Given the description of an element on the screen output the (x, y) to click on. 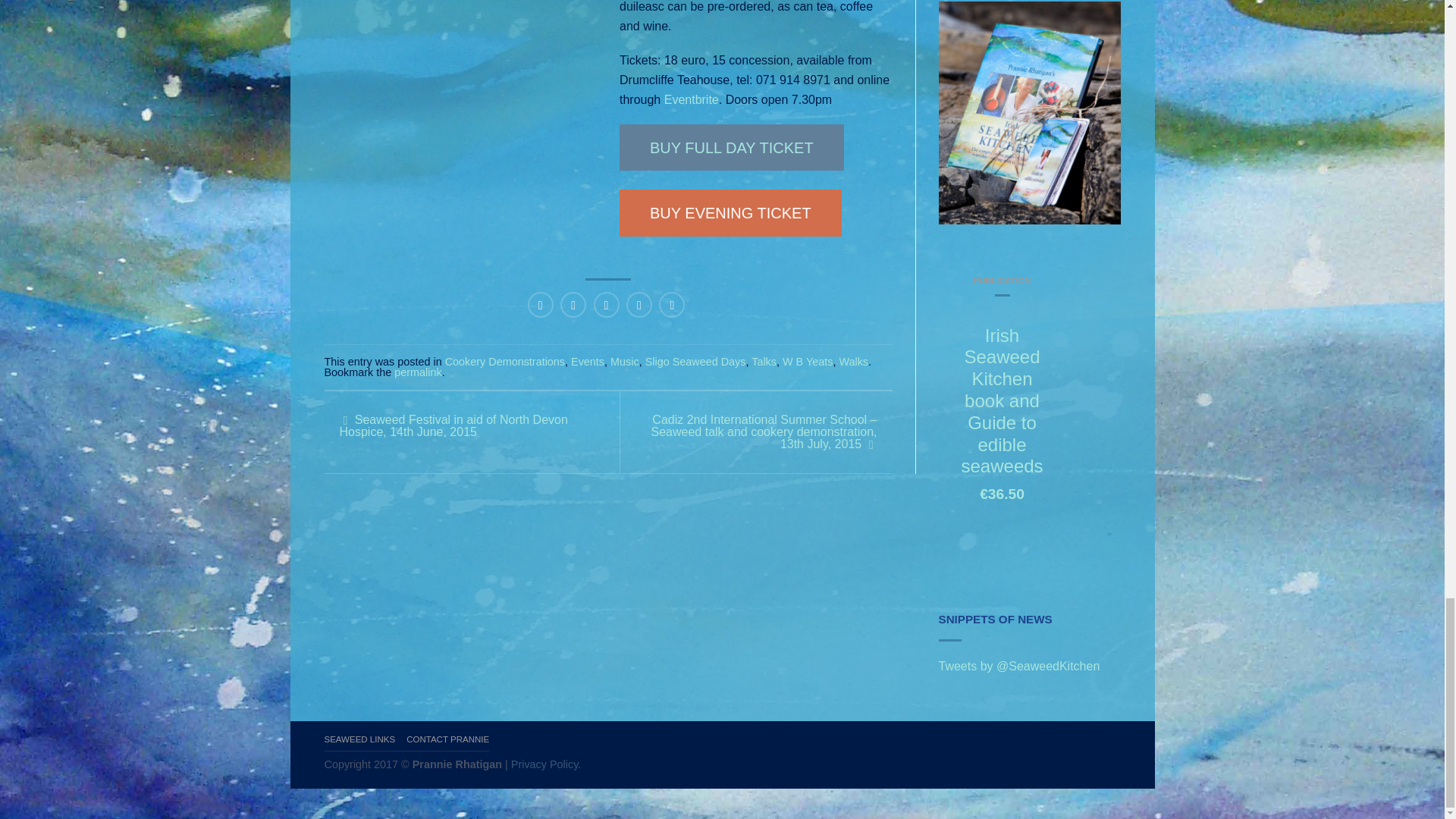
BUY EVENING TICKET (730, 212)
Events (587, 361)
Music (624, 361)
Talks (763, 361)
BUY FULL DAY TICKET (732, 147)
Cookery Demonstrations (504, 361)
W B Yeats (807, 361)
Sligo Seaweed Days (695, 361)
Eventbrite (691, 99)
Walks (852, 361)
